Given the description of an element on the screen output the (x, y) to click on. 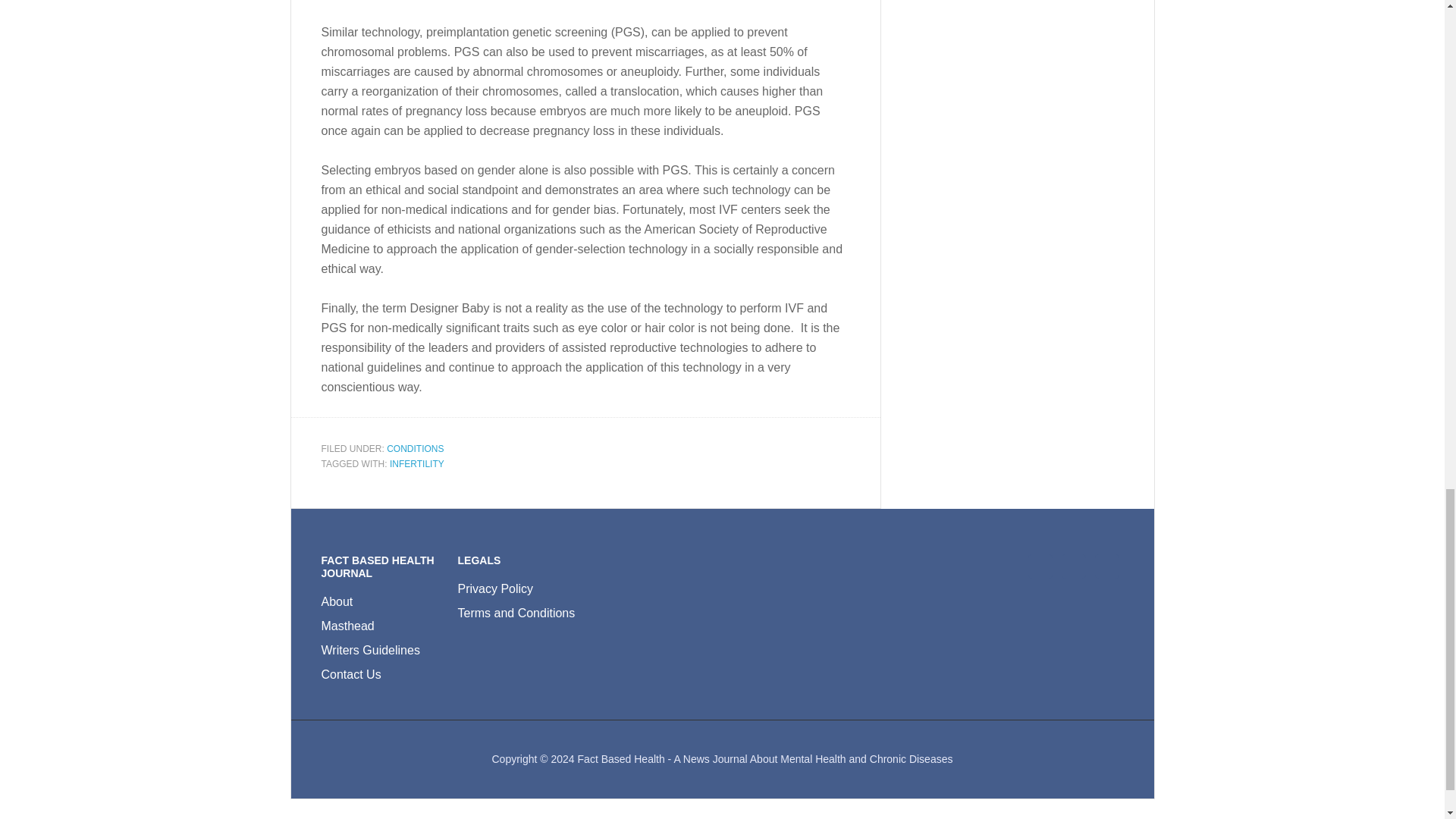
Masthead (347, 625)
About (337, 601)
CONDITIONS (415, 448)
Privacy Policy (496, 588)
Terms and Conditions (516, 612)
Contact Us (351, 674)
Writers Guidelines (370, 649)
INFERTILITY (417, 463)
